Given the description of an element on the screen output the (x, y) to click on. 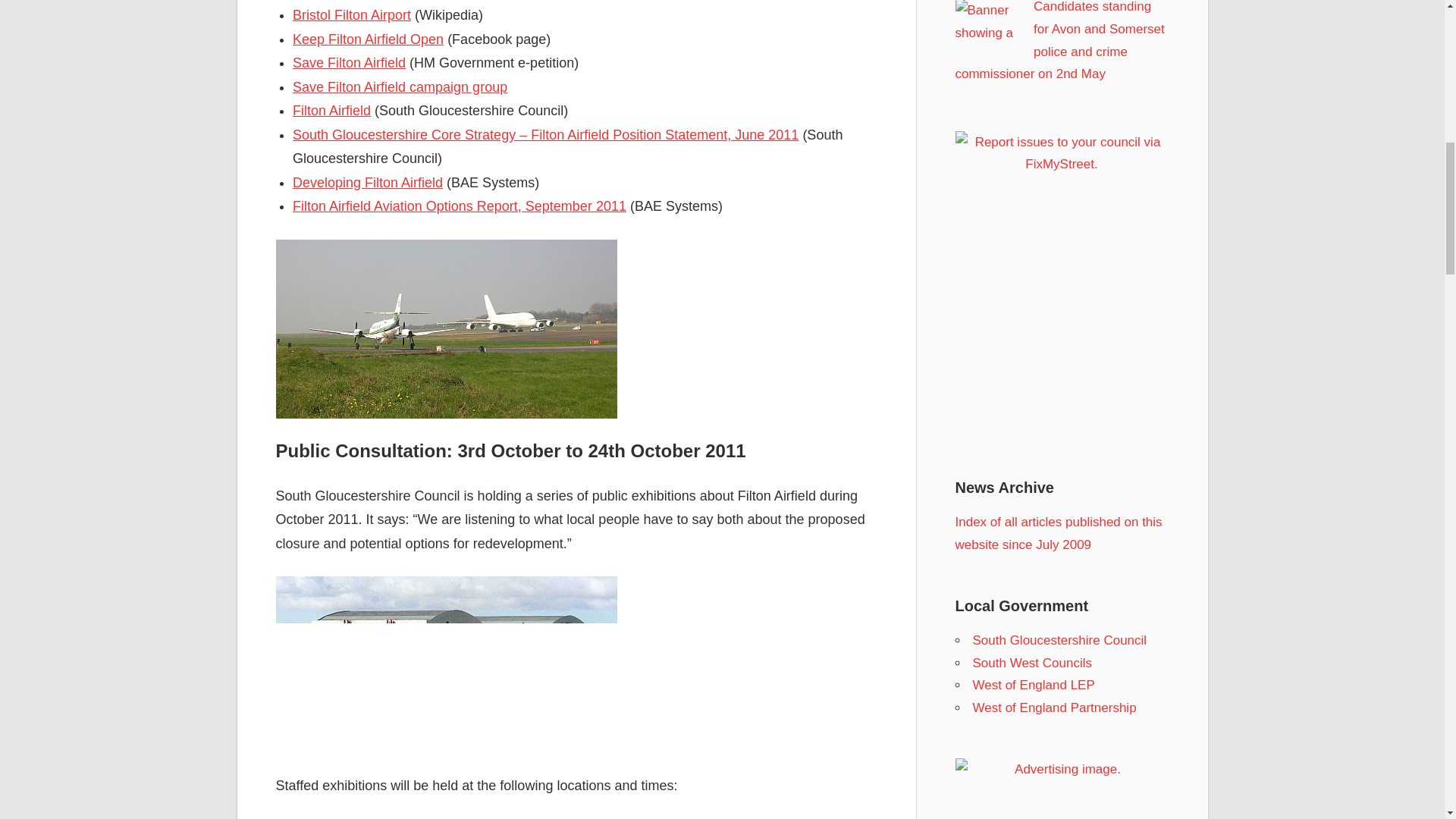
The future of Filton Airfield (446, 660)
First landing of the Airbus A380 at Filton Airfield, Bristol (446, 328)
